Given the description of an element on the screen output the (x, y) to click on. 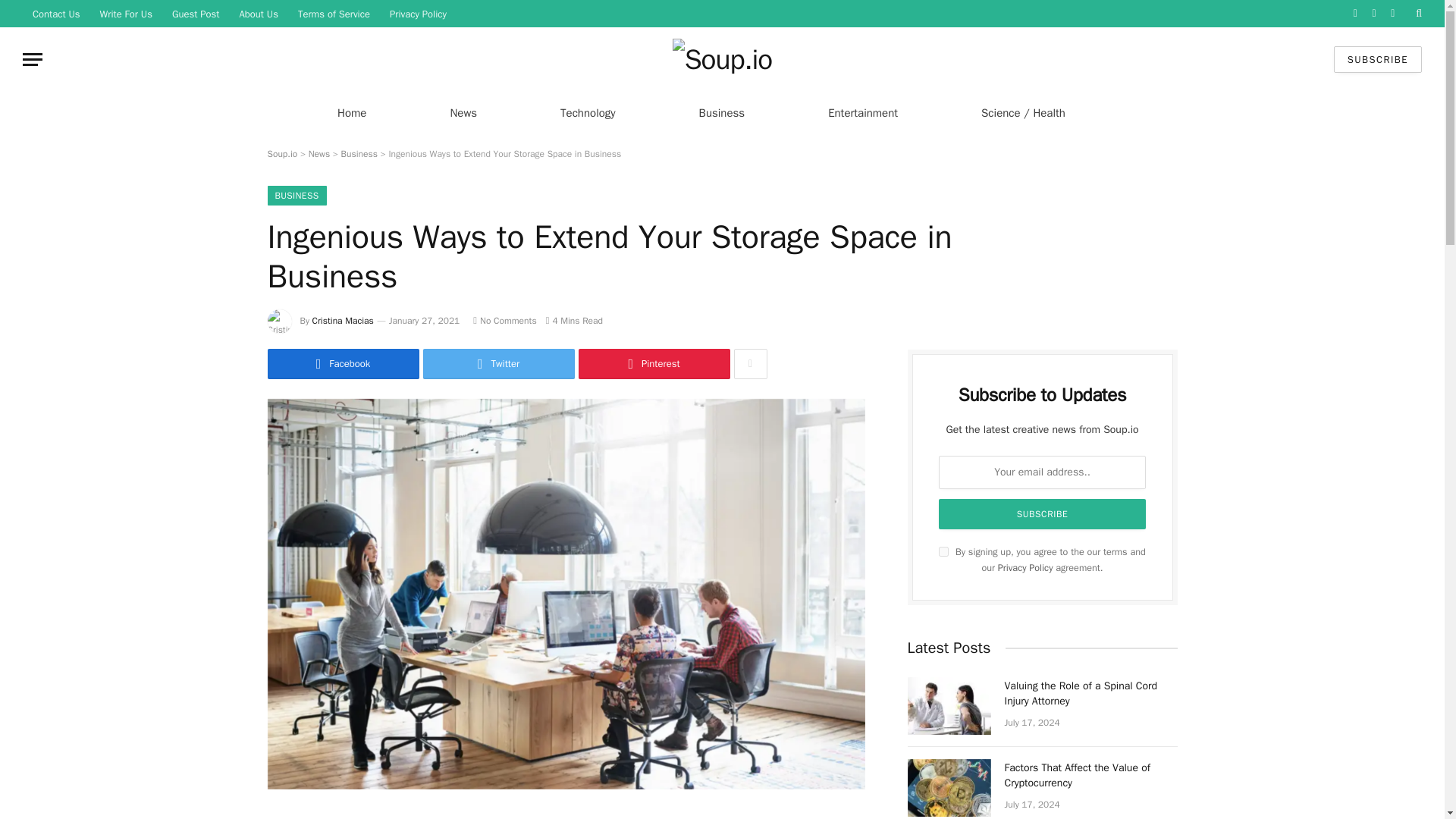
About Us (257, 13)
Contact Us (56, 13)
News (319, 153)
Share on Twitter (499, 363)
BUSINESS (296, 195)
Terms of Service (334, 13)
Twitter (499, 363)
Write For Us (125, 13)
Business (358, 153)
Cristina Macias (343, 320)
Subscribe (1043, 513)
Share on Pinterest (653, 363)
Search (1417, 13)
Posts by Cristina Macias (343, 320)
